Given the description of an element on the screen output the (x, y) to click on. 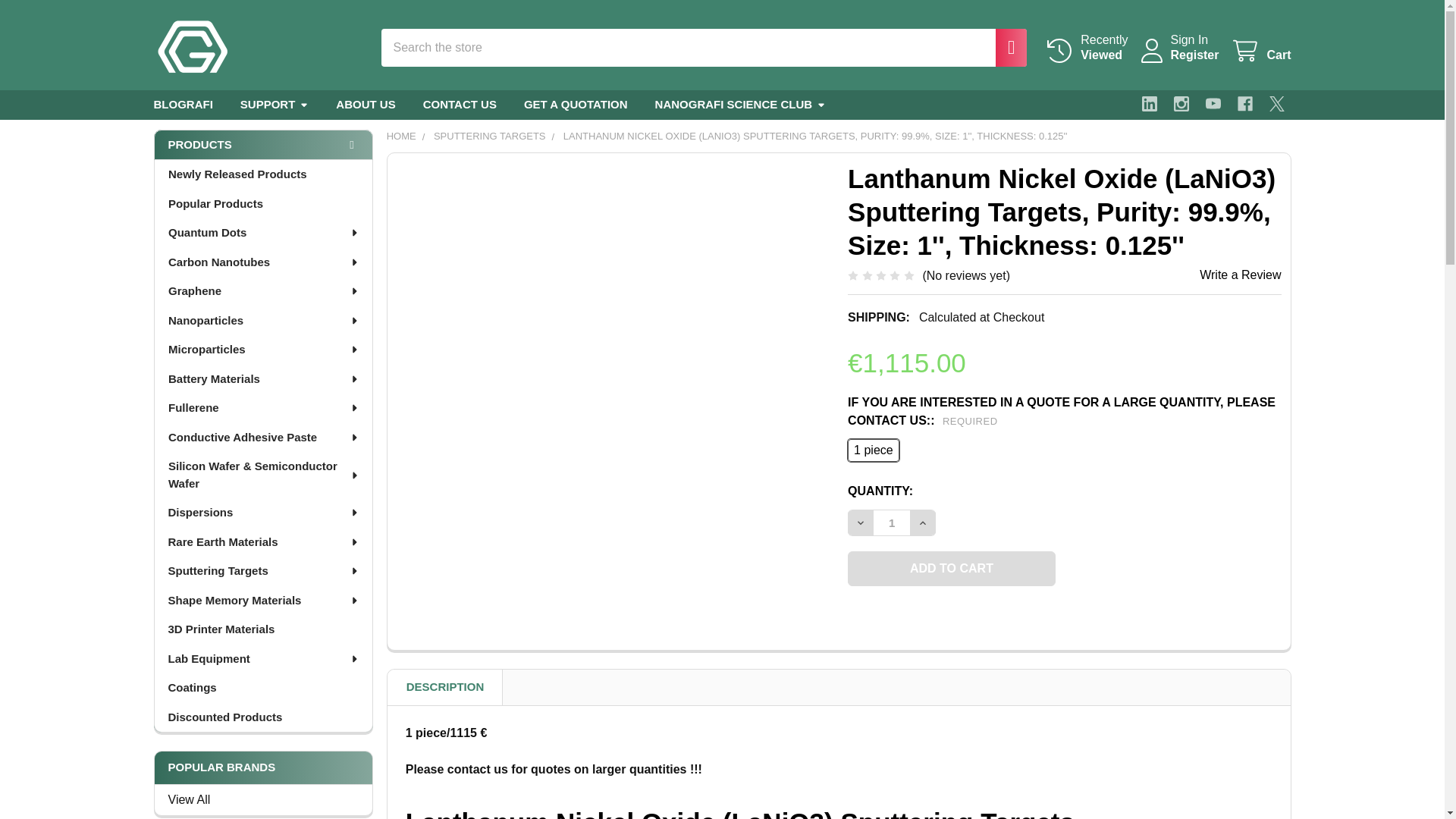
Recently Viewed (1085, 47)
Search (1085, 47)
1 (1002, 47)
Cart (891, 522)
Facebook (1260, 51)
Cart (1245, 103)
Register (1260, 51)
Search (1194, 55)
Instagram (1002, 47)
Add to Cart (1181, 103)
X (951, 568)
Nanografi Nano Technology (1276, 103)
Youtube (190, 47)
